Given the description of an element on the screen output the (x, y) to click on. 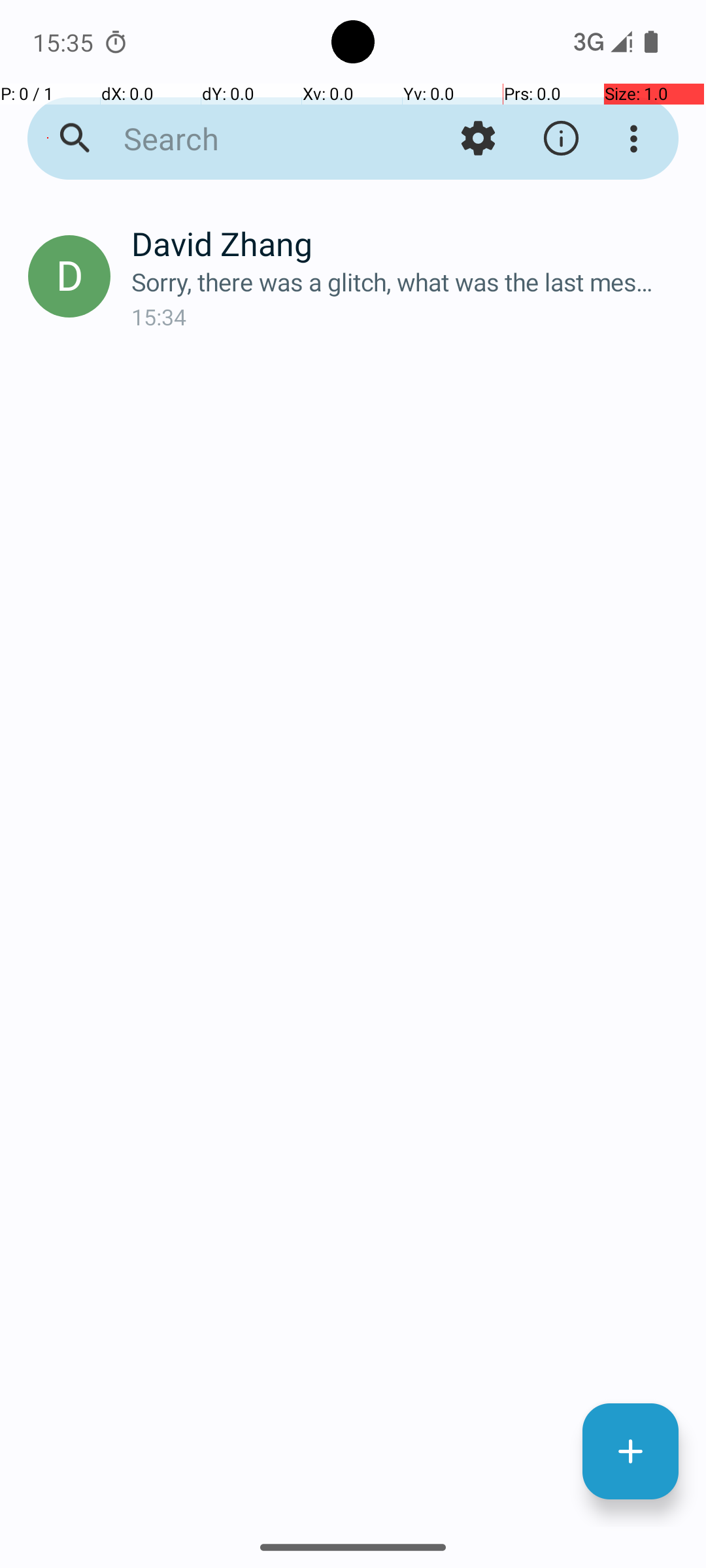
David Zhang Element type: android.widget.TextView (408, 242)
